Given the description of an element on the screen output the (x, y) to click on. 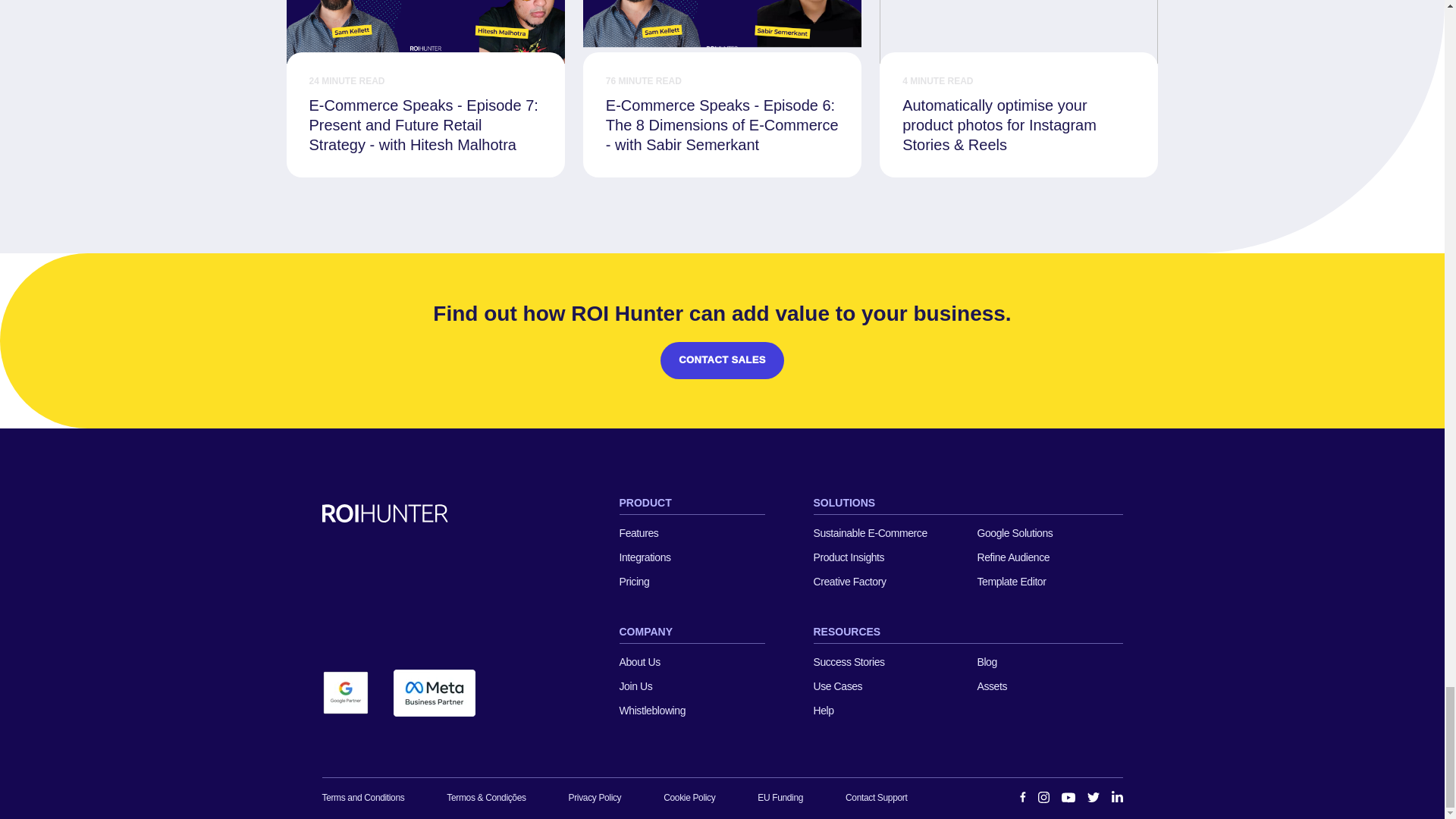
Google Solutions (1049, 532)
Sustainable E-Commerce (885, 532)
CONTACT SALES (722, 360)
Pricing (691, 581)
Integrations (691, 557)
Features (691, 532)
